Given the description of an element on the screen output the (x, y) to click on. 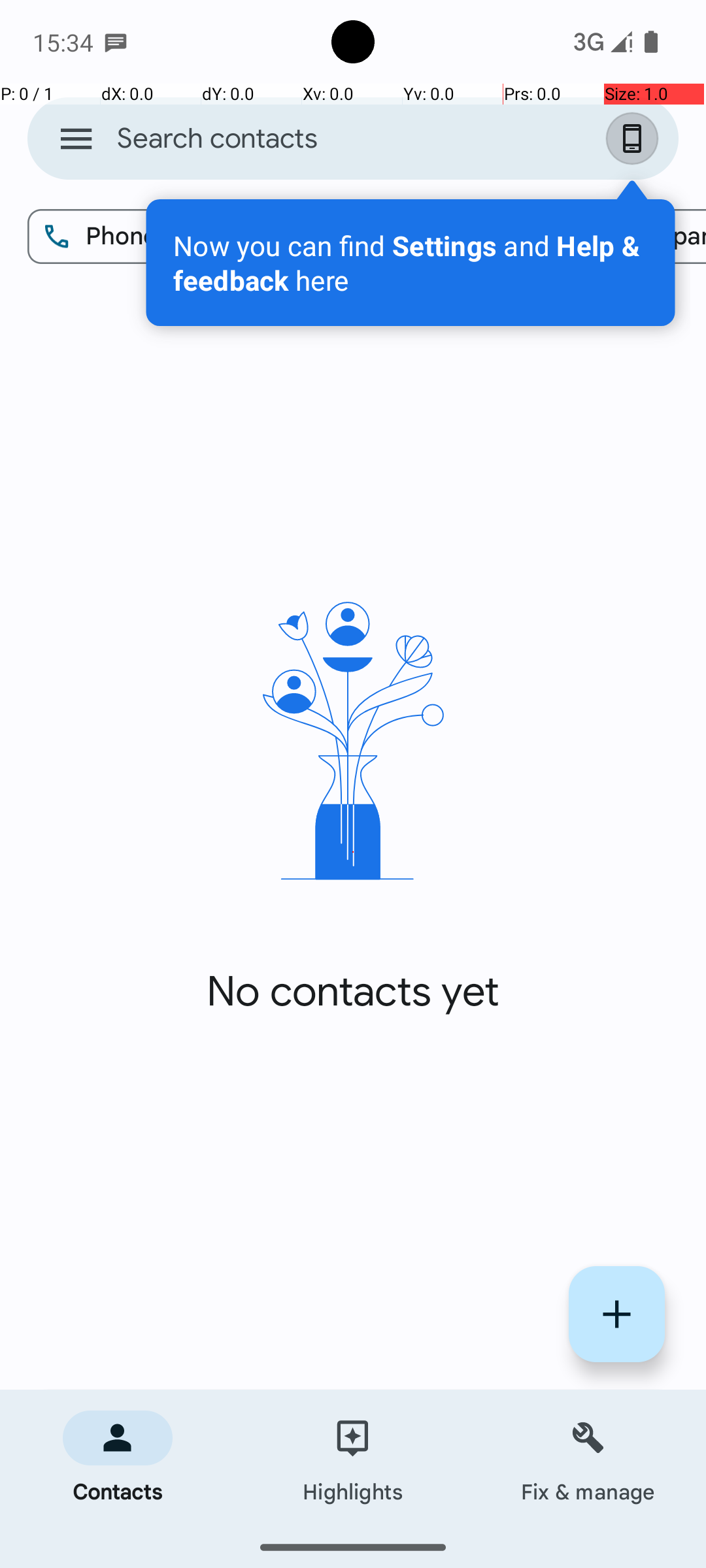
Create contact Element type: android.widget.ImageButton (616, 1314)
Contacts Element type: android.widget.FrameLayout (117, 1457)
Highlights Element type: android.widget.FrameLayout (352, 1457)
Fix & manage Element type: android.widget.FrameLayout (588, 1457)
Open navigation drawer Element type: android.widget.ImageButton (75, 138)
Signed in as Device
Account and settings. Element type: android.widget.FrameLayout (634, 138)
No contacts yet Element type: android.widget.TextView (353, 991)
Phone contacts Element type: android.widget.Button (157, 236)
Email contacts Element type: android.widget.Button (425, 236)
Company Element type: android.widget.Button (634, 236)
Now you can find Settings and Help & feedback here
Open account and settings. Element type: android.view.ViewGroup (409, 262)
Now you can find Settings and Help & feedback here Element type: android.widget.TextView (410, 262)
